Given the description of an element on the screen output the (x, y) to click on. 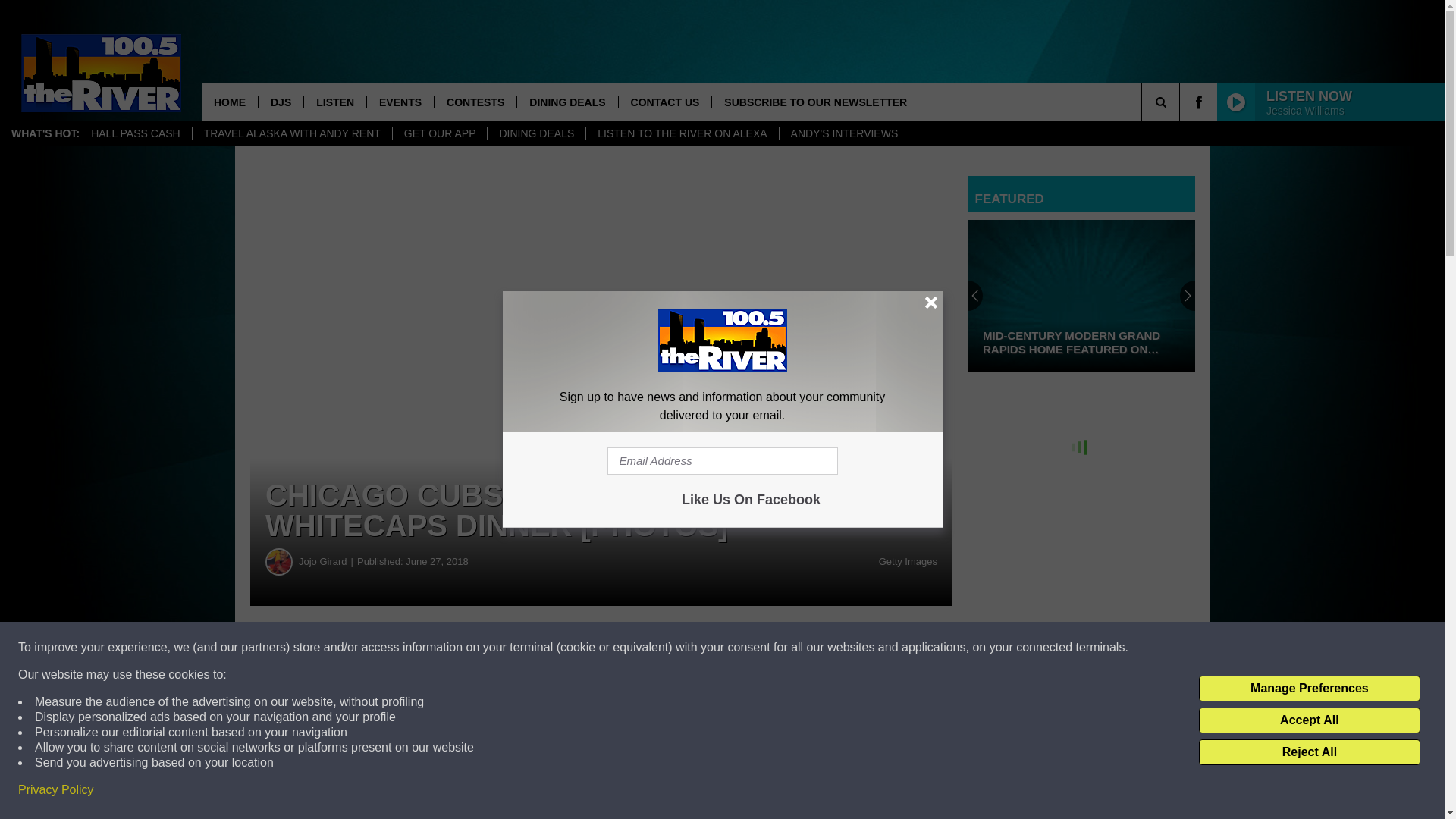
Reject All (1309, 751)
Privacy Policy (55, 789)
EVENTS (399, 102)
CONTESTS (474, 102)
SEARCH (1182, 102)
Share on Facebook (460, 647)
Email Address (722, 461)
DJS (279, 102)
SUBSCRIBE TO OUR NEWSLETTER (814, 102)
CONTACT US (664, 102)
Manage Preferences (1309, 688)
SEARCH (1182, 102)
DINING DEALS (566, 102)
ANDY'S INTERVIEWS (844, 133)
Accept All (1309, 720)
